Given the description of an element on the screen output the (x, y) to click on. 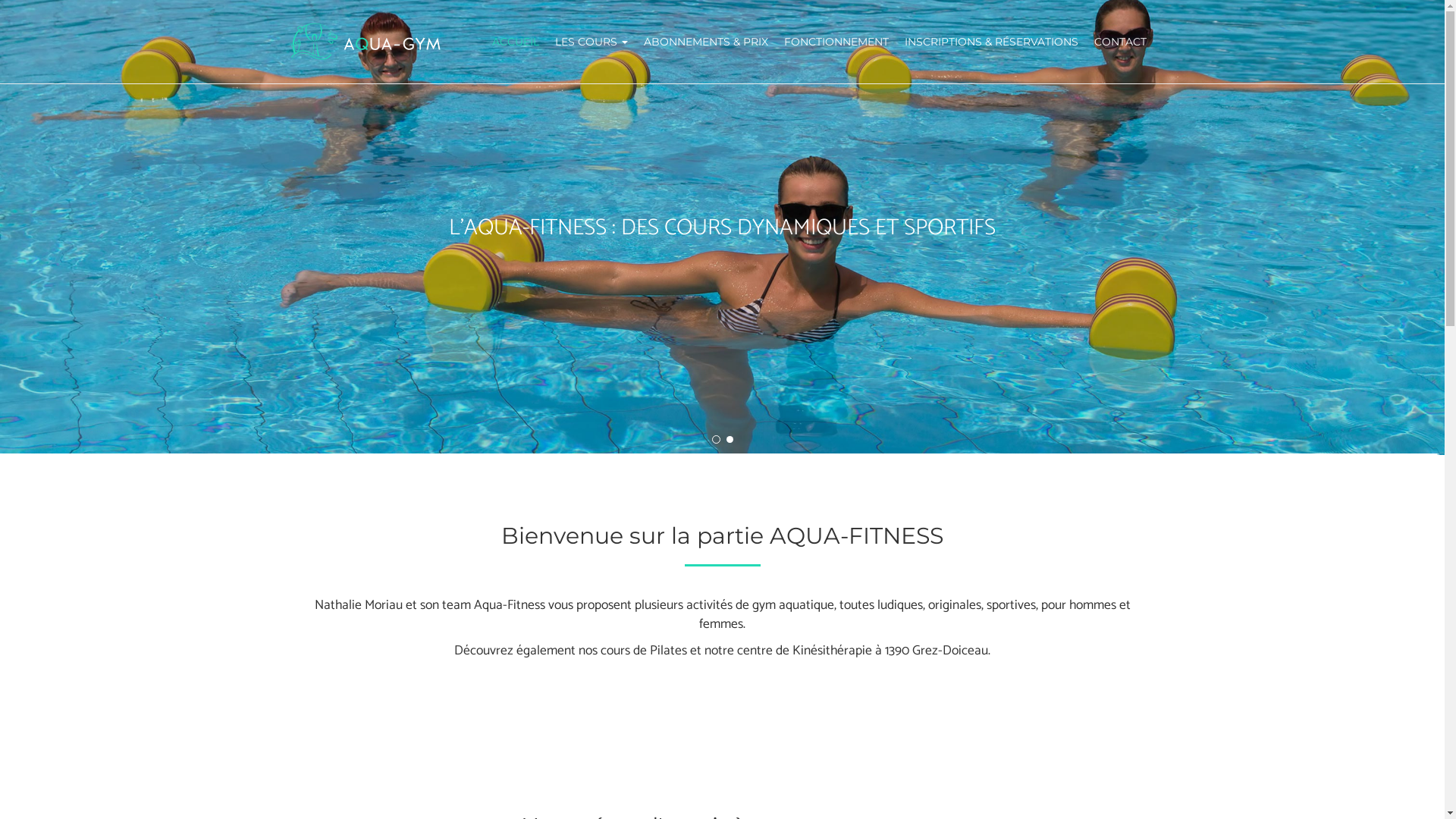
LES COURS Element type: text (591, 41)
CONTACT Element type: text (1119, 41)
Accueil Element type: hover (370, 41)
ABONNEMENTS & PRIX Element type: text (705, 41)
FONCTIONNEMENT Element type: text (836, 41)
ACCUEIL Element type: text (514, 41)
